Given the description of an element on the screen output the (x, y) to click on. 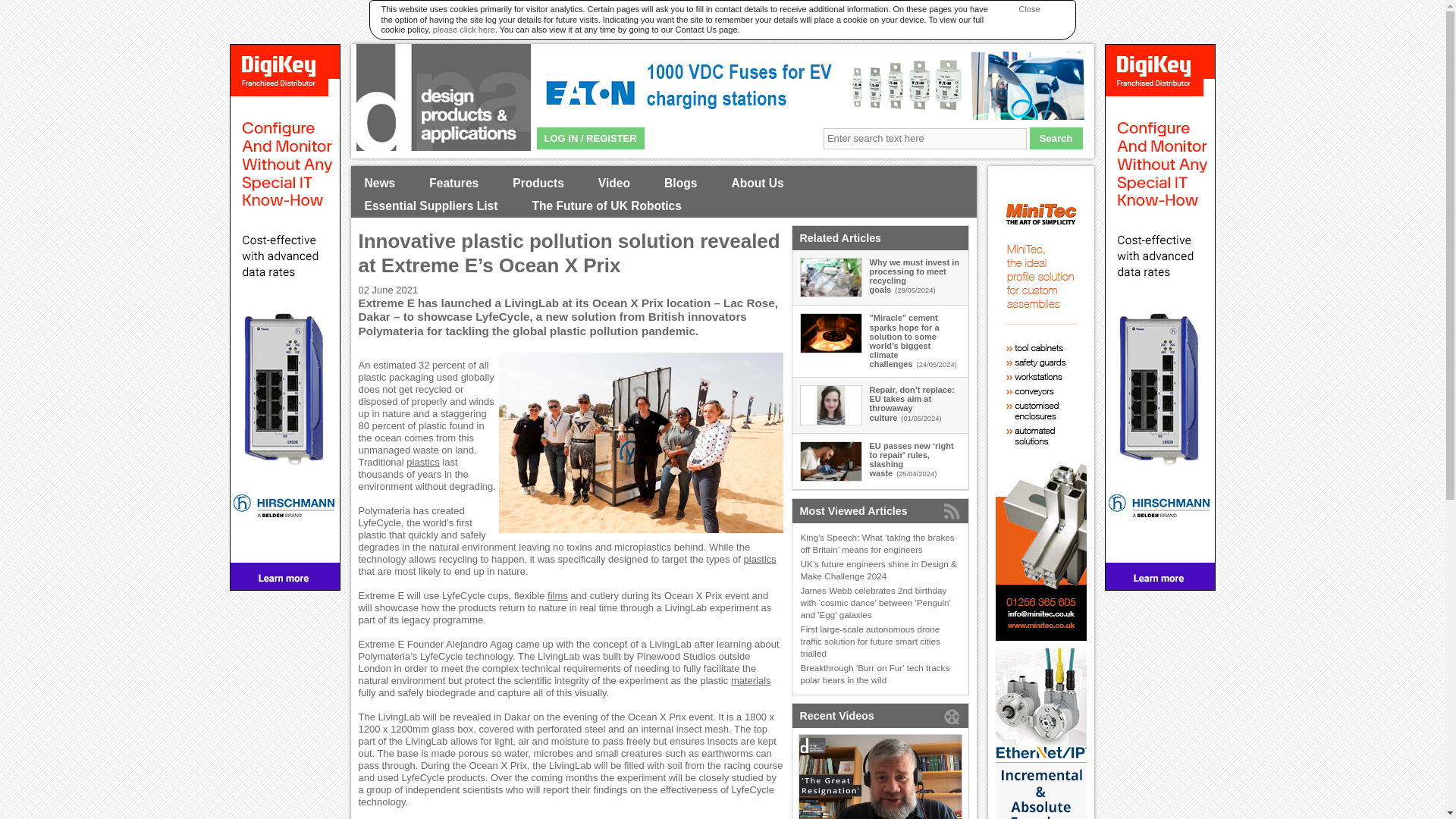
Products (538, 183)
Features (454, 183)
please click here (463, 29)
News (379, 183)
